Given the description of an element on the screen output the (x, y) to click on. 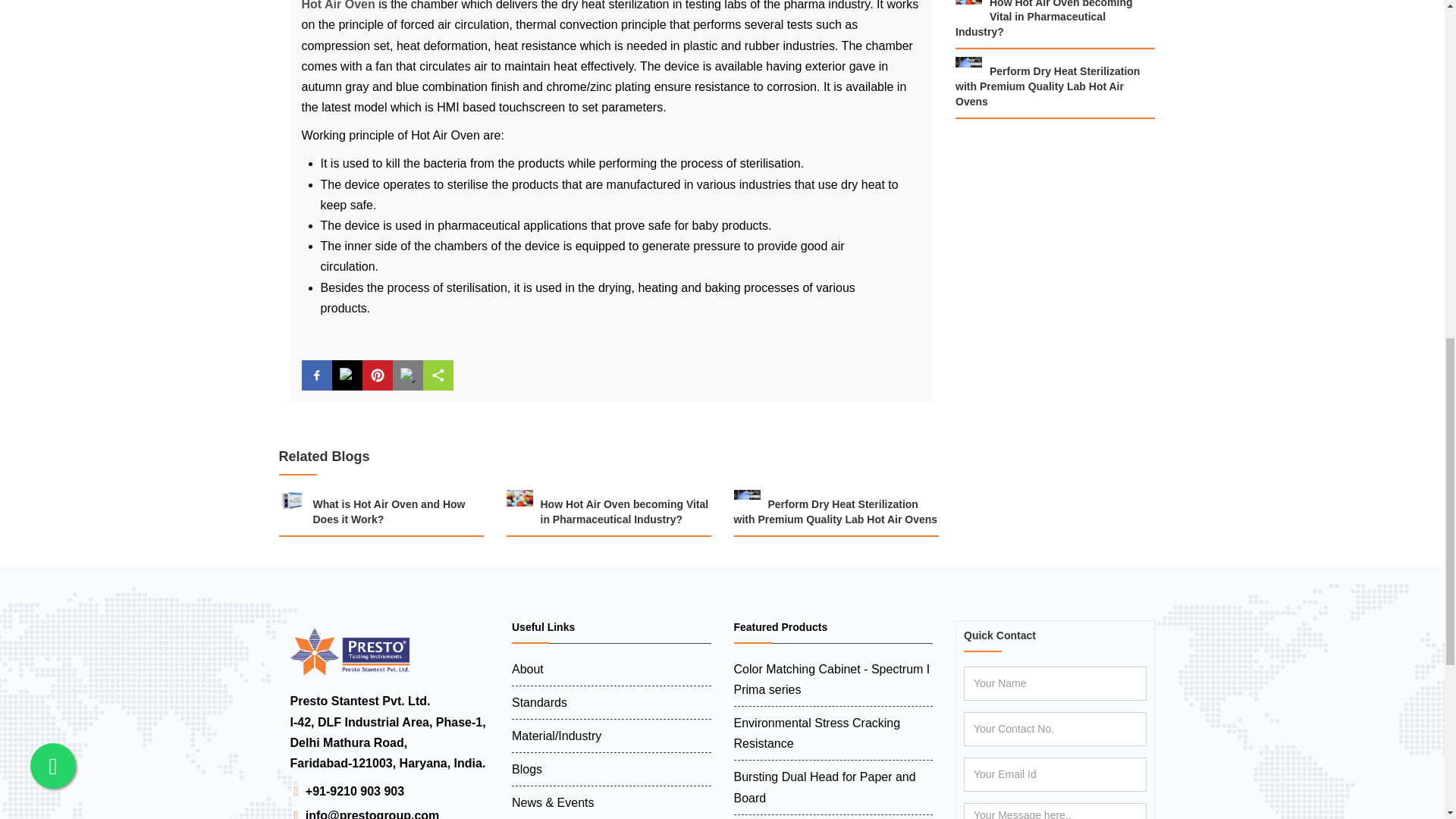
Hot Air Oven (338, 5)
How Hot Air Oven becoming Vital in Pharmaceutical Industry? (1054, 20)
